Given the description of an element on the screen output the (x, y) to click on. 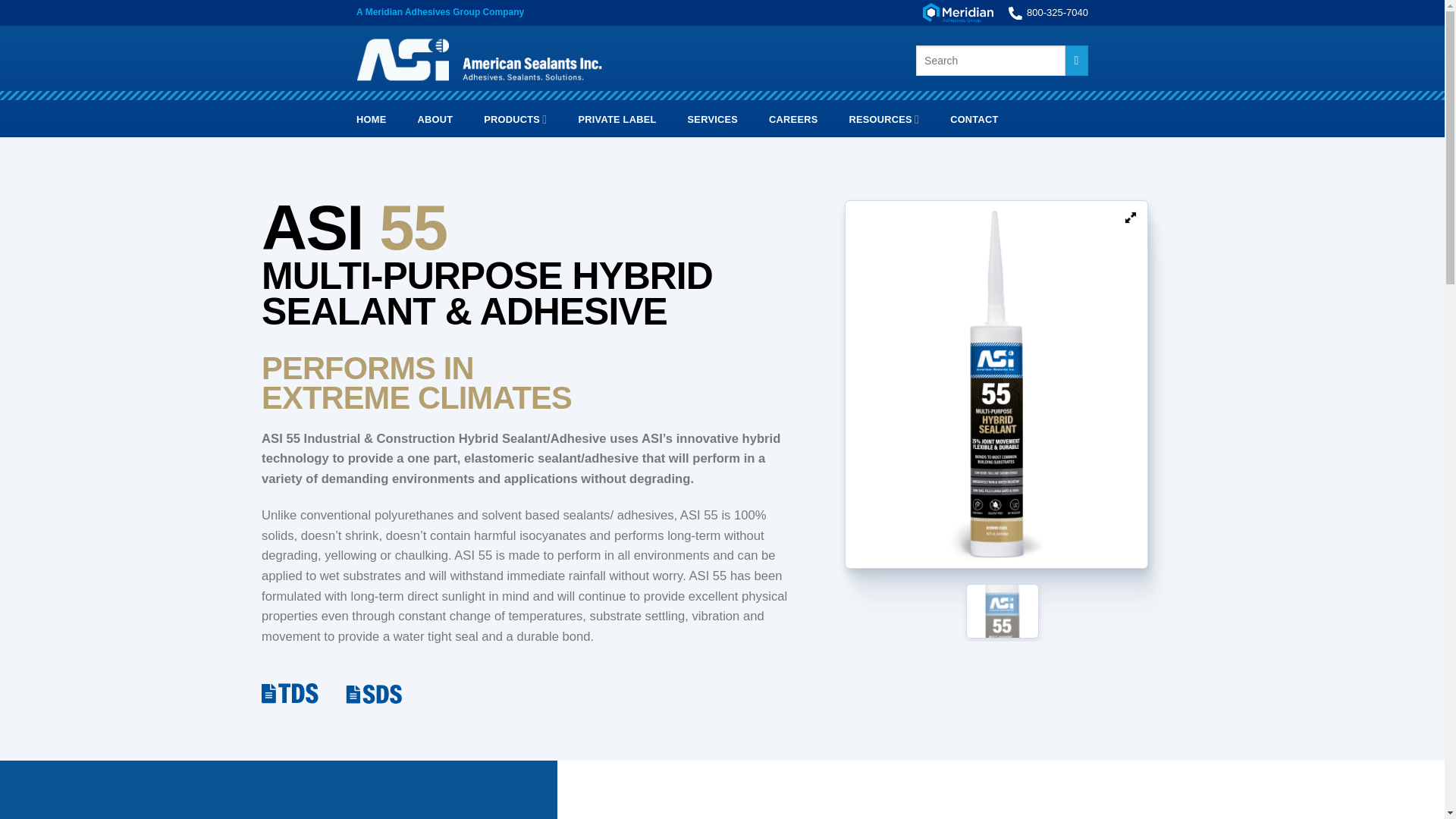
PRIVATE LABEL (617, 119)
Meridian Adhesives Group (957, 12)
PRODUCTS (515, 119)
CAREERS (792, 119)
ABOUT (434, 119)
CONTACT (973, 119)
800-325-7040 (1048, 12)
SERVICES (712, 119)
RESOURCES (883, 119)
